Given the description of an element on the screen output the (x, y) to click on. 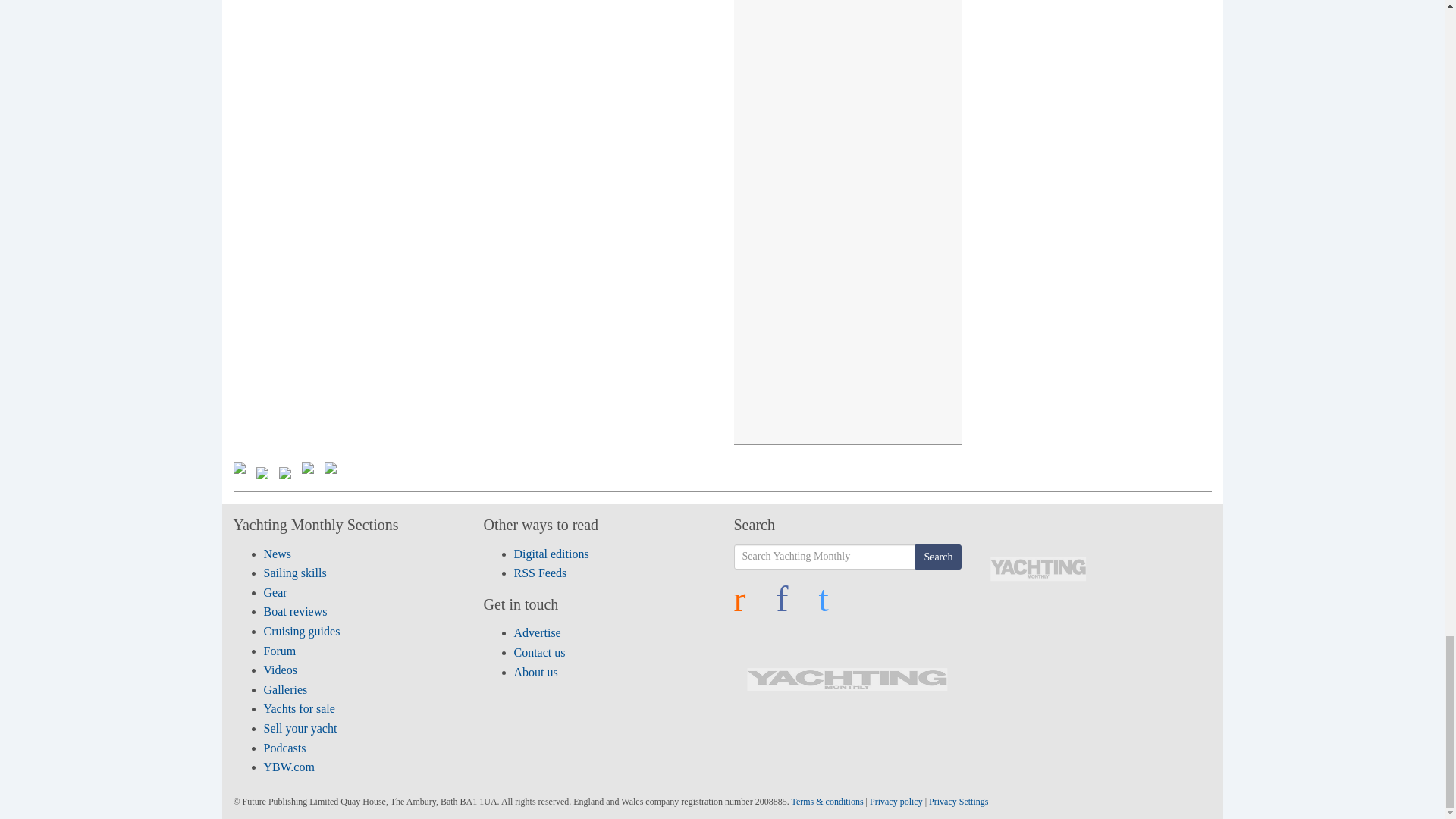
Latest Issue of Yachting Monthly (1038, 569)
